Given the description of an element on the screen output the (x, y) to click on. 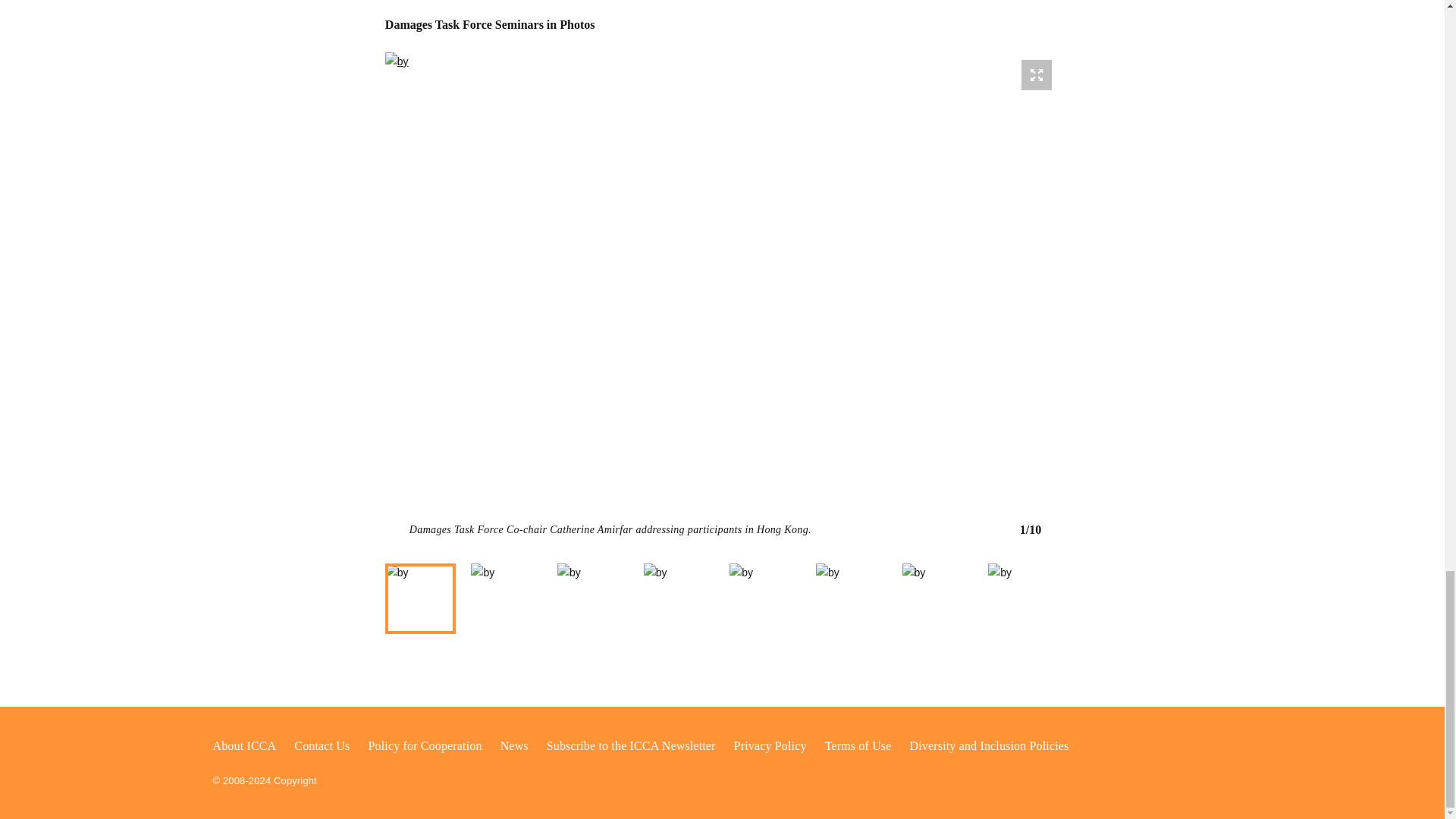
 by  (505, 598)
 by  (592, 598)
 by  (421, 598)
